Given the description of an element on the screen output the (x, y) to click on. 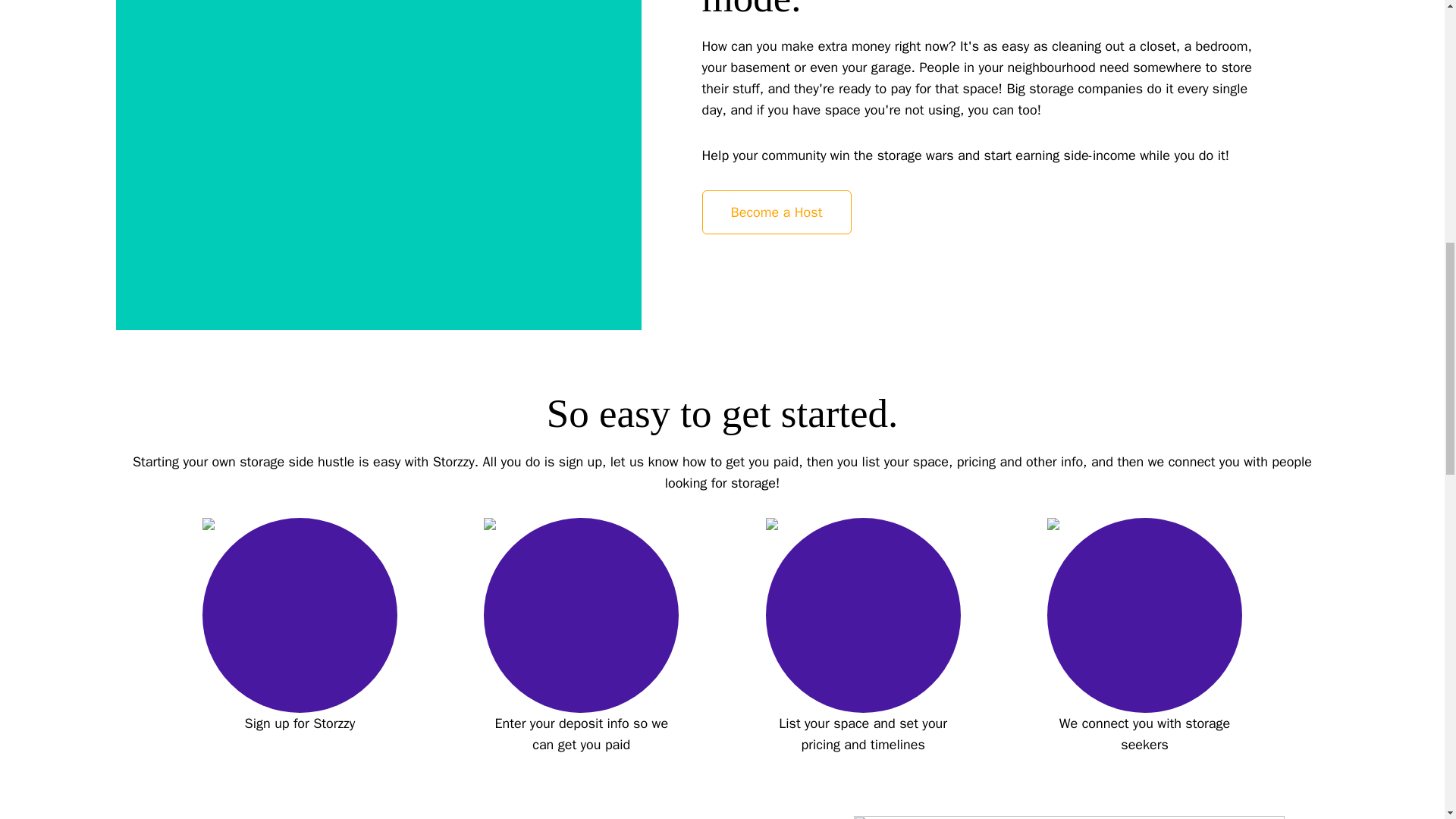
Become a Host (776, 211)
